Given the description of an element on the screen output the (x, y) to click on. 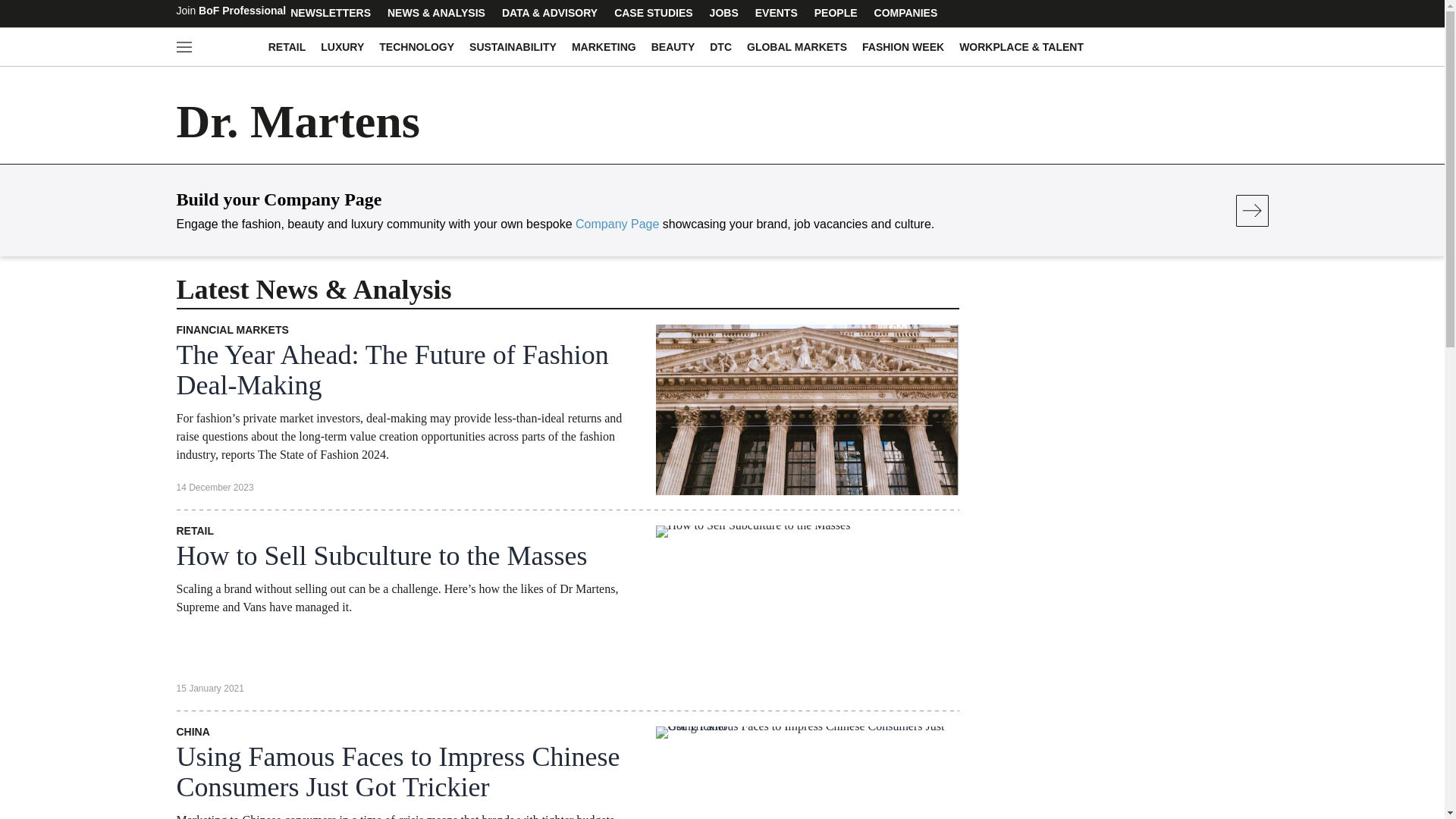
PEOPLE (836, 12)
EVENTS (775, 12)
NEWSLETTERS (330, 12)
CASE STUDIES (652, 12)
JOBS (724, 12)
COMPANIES (906, 12)
Join BoF Professional (230, 12)
